Given the description of an element on the screen output the (x, y) to click on. 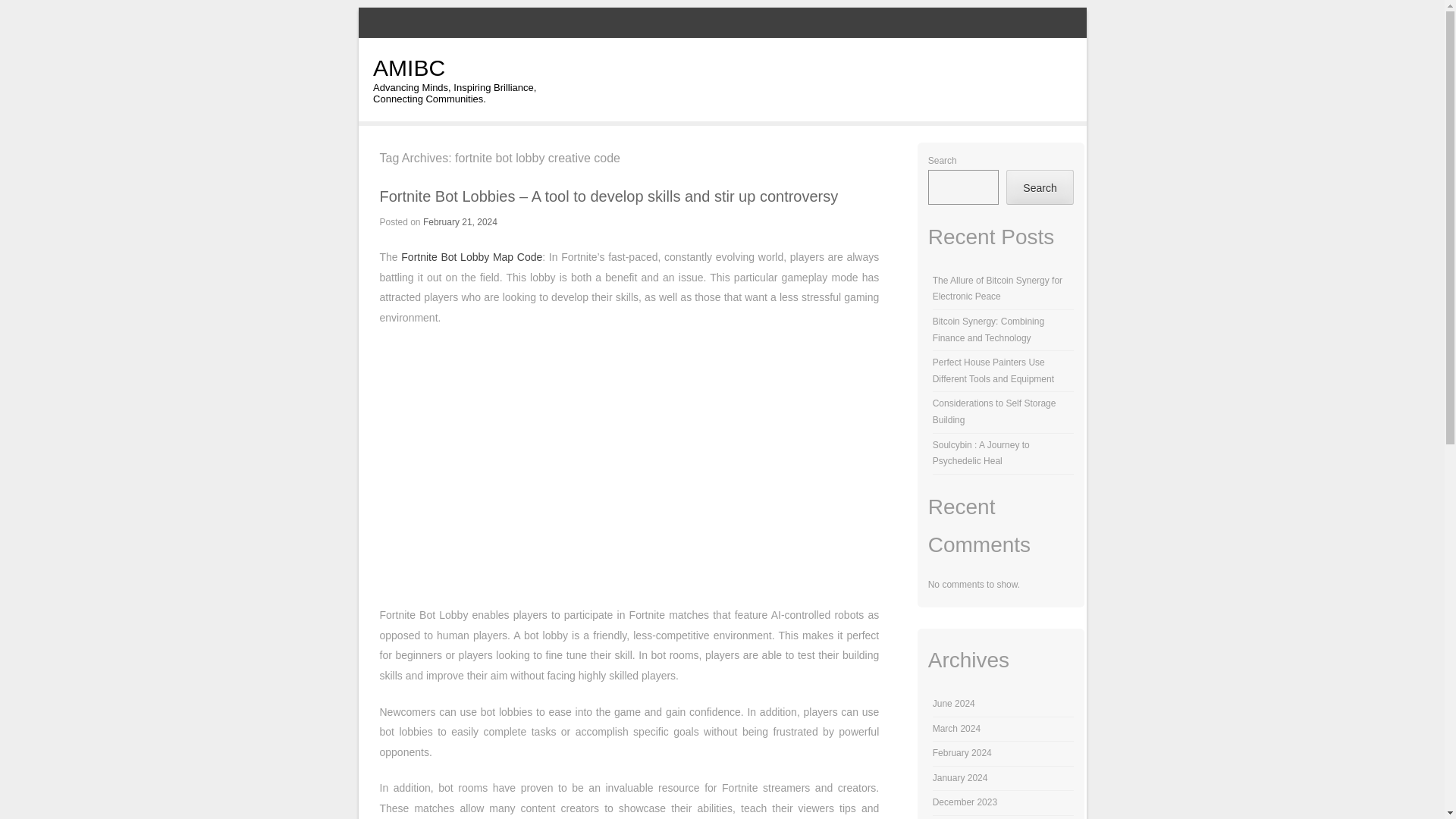
Fortnite Bot Lobby Map Code (471, 256)
5:46 am (460, 222)
February 21, 2024 (460, 222)
SKIP TO CONTENT (630, 75)
Perfect House Painters Use Different Tools and Equipment (993, 370)
March 2024 (956, 728)
January 2024 (960, 777)
Considerations to Self Storage Building (995, 411)
AMIBC (408, 67)
Soulcybin : A Journey to Psychedelic Heal (981, 452)
